Given the description of an element on the screen output the (x, y) to click on. 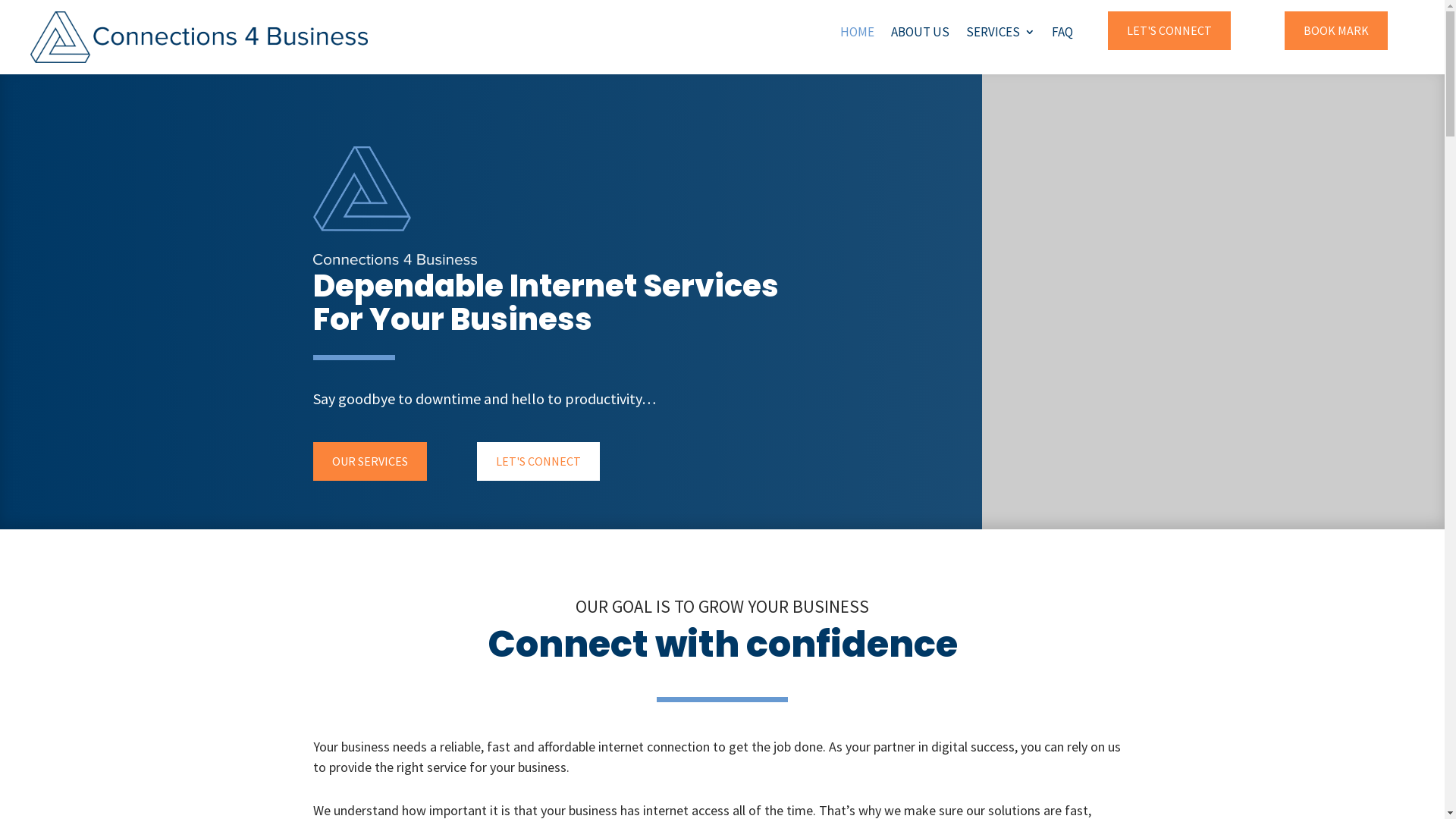
ABOUT US Element type: text (920, 34)
BOOK MARK Element type: text (1335, 30)
OUR SERVICES Element type: text (369, 461)
C4B-Logo-Light-Blue Element type: hover (361, 188)
SERVICES Element type: text (1000, 34)
HOME Element type: text (857, 34)
LET'S CONNECT Element type: text (1168, 30)
Connections-For-Business-Blue-Horizontal-2 Element type: hover (198, 36)
C4B-Title Element type: hover (394, 259)
FAQ Element type: text (1062, 34)
LET'S CONNECT Element type: text (537, 461)
